Given the description of an element on the screen output the (x, y) to click on. 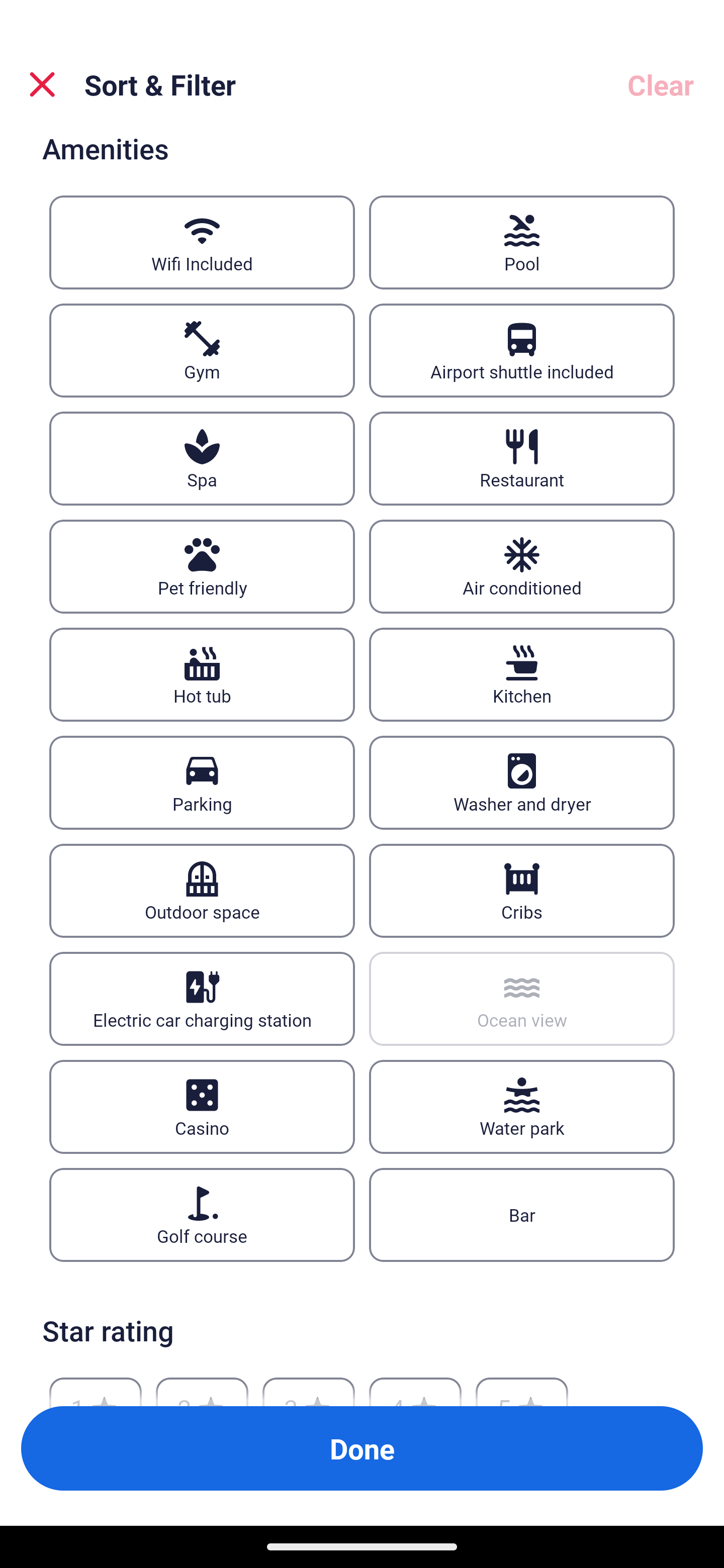
Close Sort and Filter (42, 84)
Clear (660, 84)
Wifi Included (201, 243)
Pool (521, 243)
Gym (201, 351)
Airport shuttle included (521, 351)
Spa (201, 457)
Restaurant (521, 457)
Pet friendly (201, 566)
Air conditioned (521, 566)
Hot tub (201, 674)
Kitchen (521, 674)
Parking (201, 782)
Washer and dryer (521, 782)
Outdoor space (201, 890)
Cribs (521, 890)
Electric car charging station (201, 998)
Ocean view (521, 998)
Casino (201, 1106)
Water park (521, 1106)
Golf course (201, 1215)
Bar (521, 1215)
Apply and close Sort and Filter Done (361, 1448)
